Given the description of an element on the screen output the (x, y) to click on. 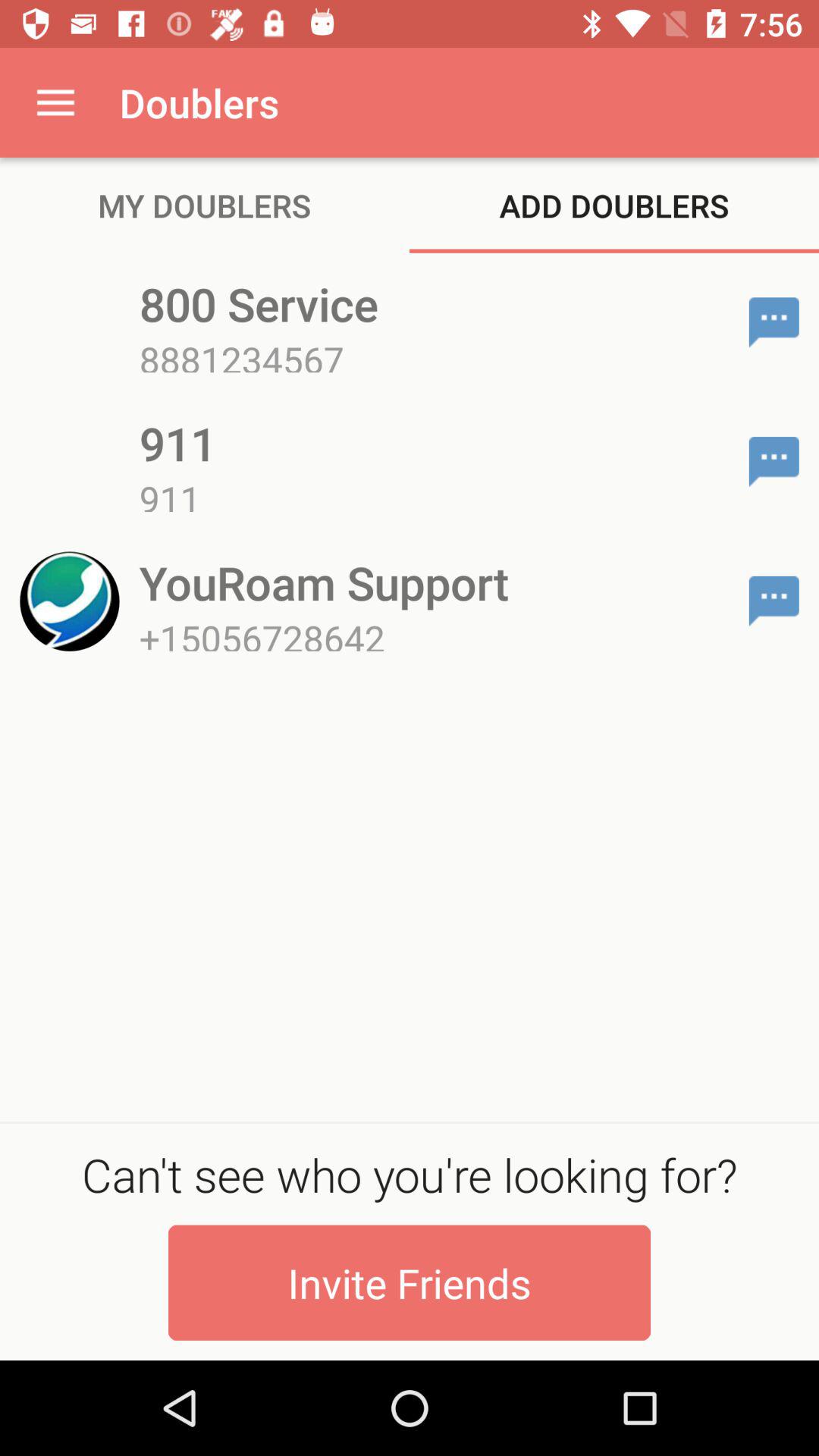
share the article (774, 322)
